Given the description of an element on the screen output the (x, y) to click on. 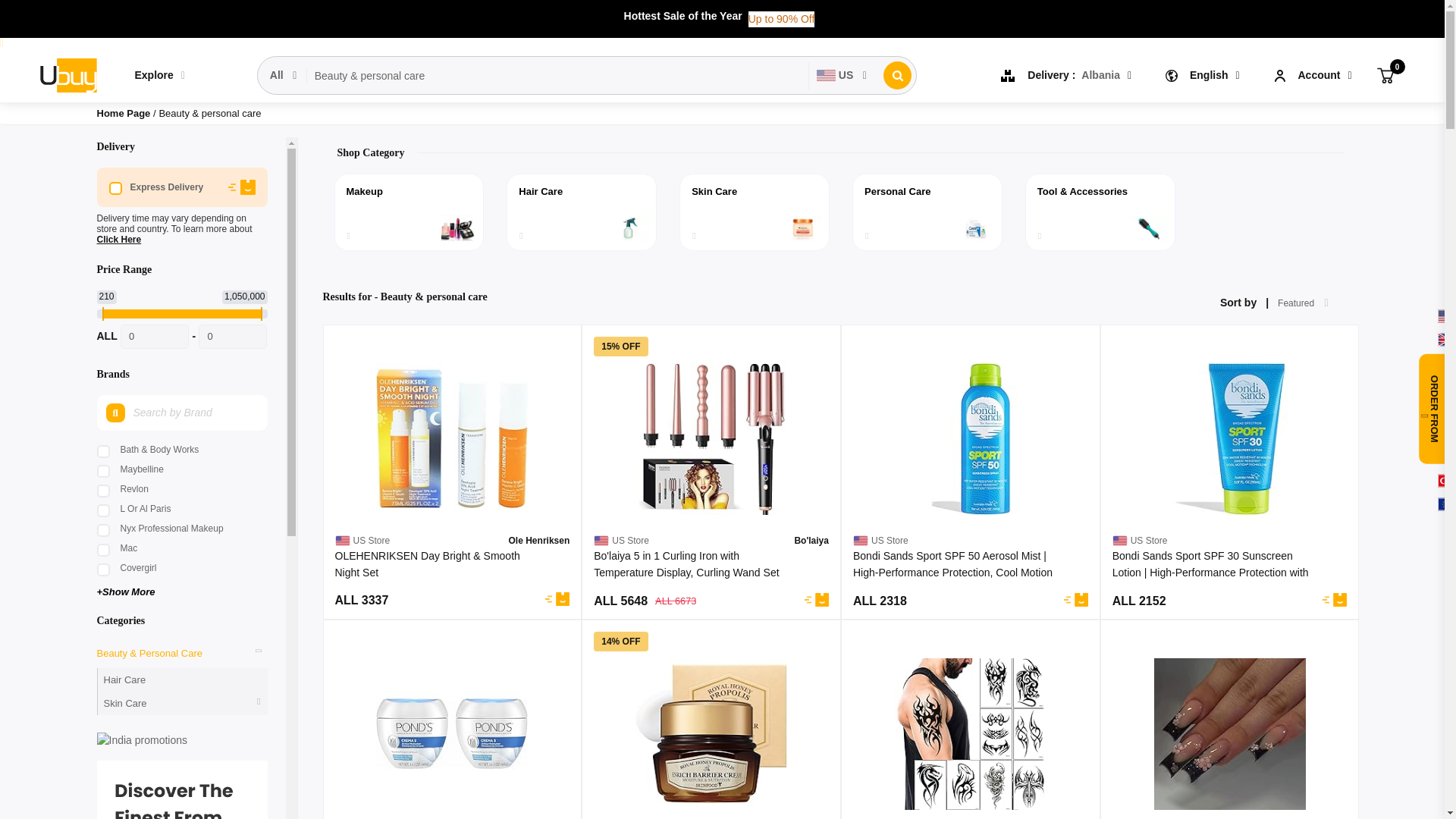
Ubuy (67, 75)
All (283, 75)
0 (154, 336)
Home Page (124, 112)
US (842, 75)
Cart (1385, 74)
0 (1385, 74)
0 (232, 336)
